Given the description of an element on the screen output the (x, y) to click on. 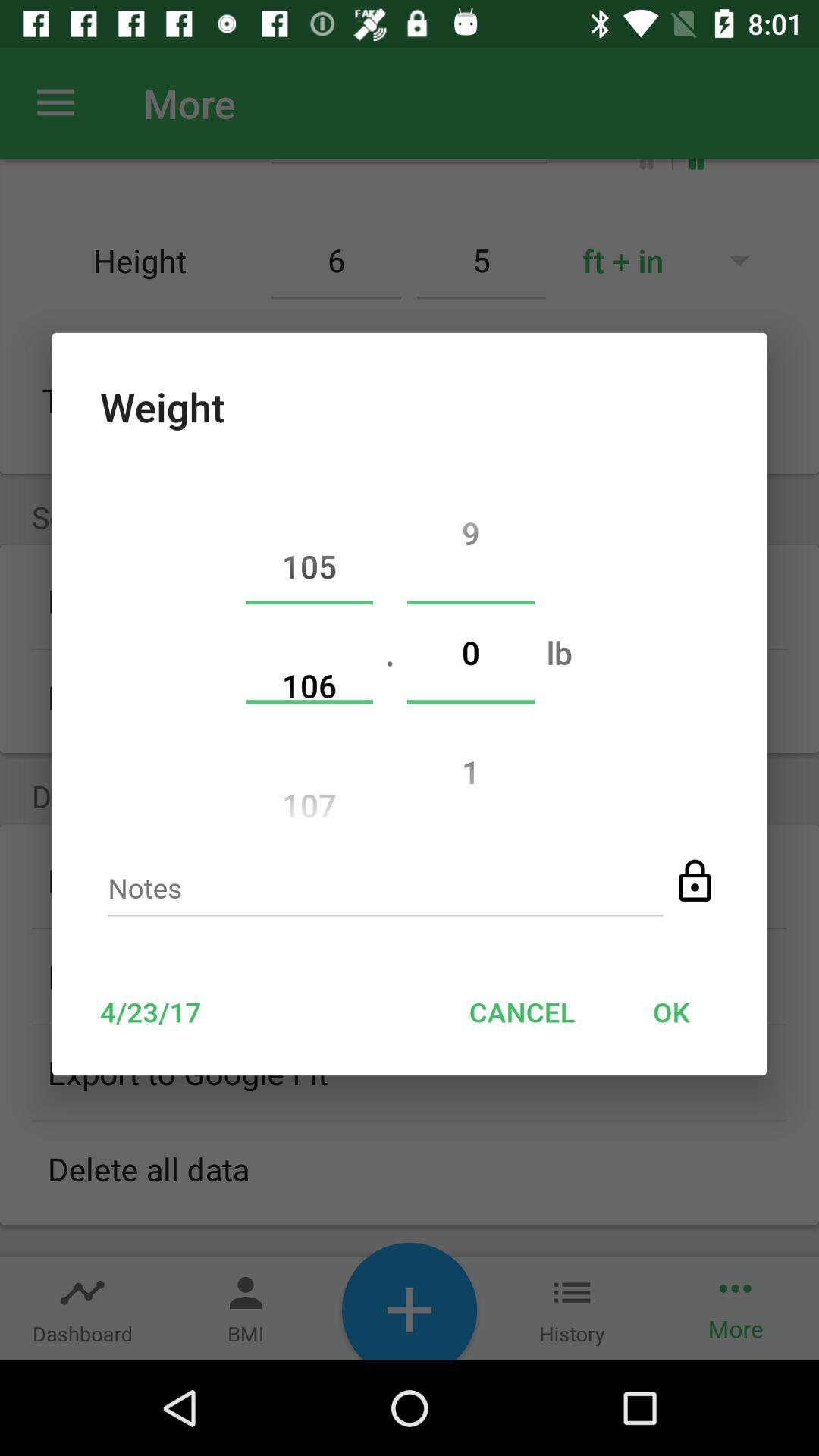
input notes (385, 892)
